Given the description of an element on the screen output the (x, y) to click on. 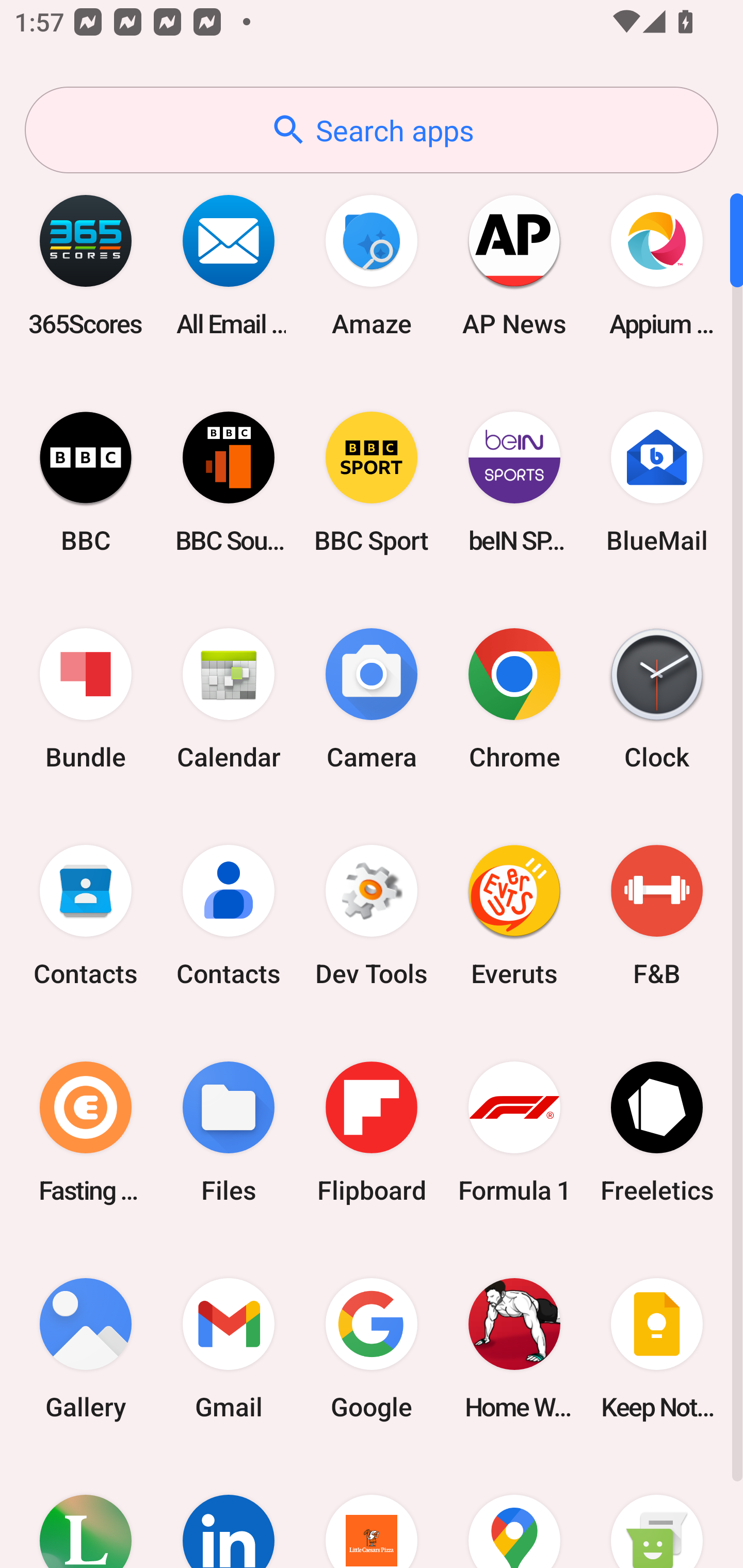
  Search apps (371, 130)
365Scores (85, 264)
All Email Connect (228, 264)
Amaze (371, 264)
AP News (514, 264)
Appium Settings (656, 264)
BBC (85, 482)
BBC Sounds (228, 482)
BBC Sport (371, 482)
beIN SPORTS (514, 482)
BlueMail (656, 482)
Bundle (85, 699)
Calendar (228, 699)
Camera (371, 699)
Chrome (514, 699)
Clock (656, 699)
Contacts (85, 915)
Contacts (228, 915)
Dev Tools (371, 915)
Everuts (514, 915)
F&B (656, 915)
Fasting Coach (85, 1131)
Files (228, 1131)
Flipboard (371, 1131)
Formula 1 (514, 1131)
Freeletics (656, 1131)
Gallery (85, 1348)
Gmail (228, 1348)
Google (371, 1348)
Home Workout (514, 1348)
Keep Notes (656, 1348)
Lifesum (85, 1512)
LinkedIn (228, 1512)
Little Caesars Pizza (371, 1512)
Maps (514, 1512)
Messaging (656, 1512)
